Given the description of an element on the screen output the (x, y) to click on. 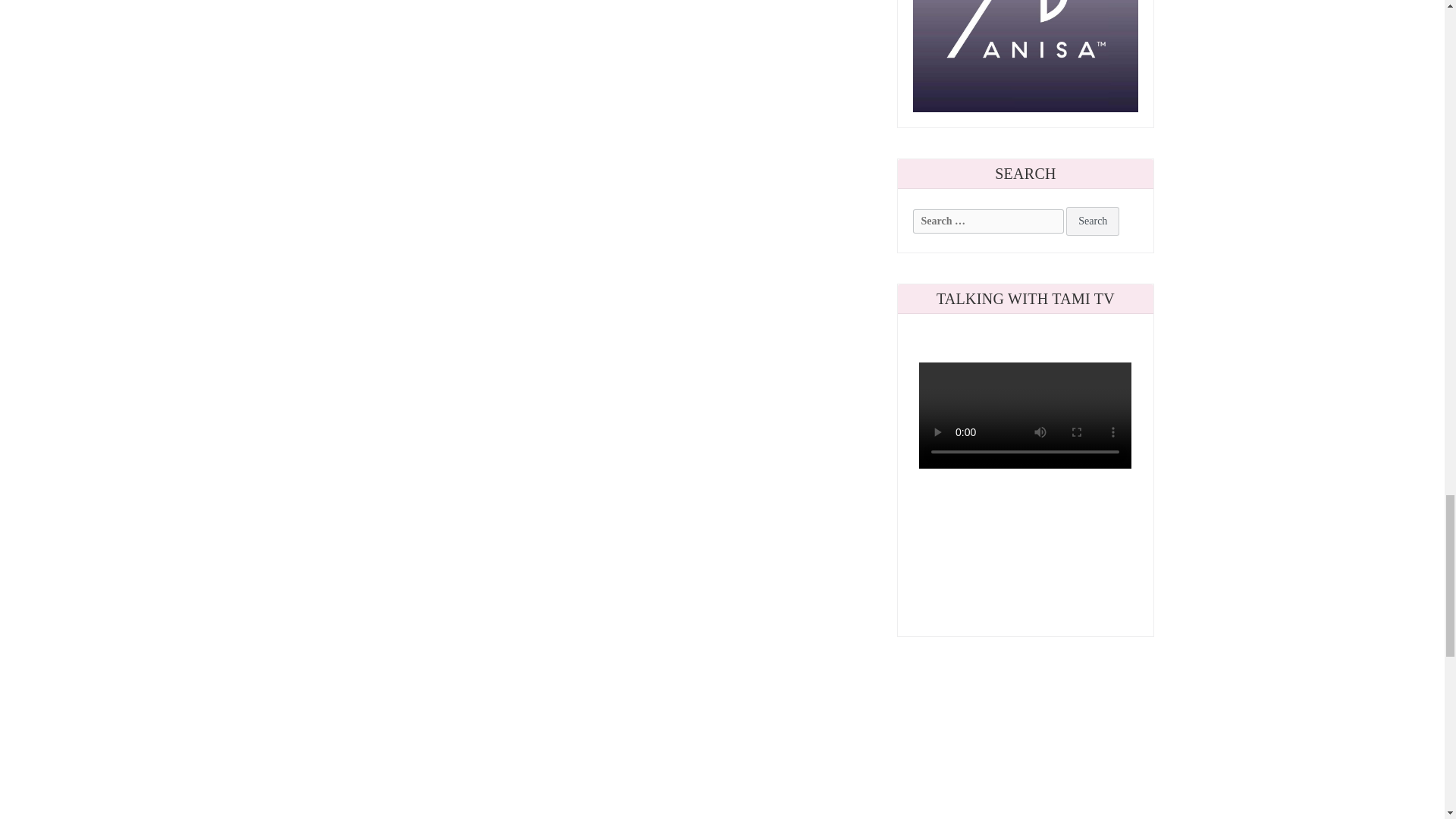
Search (1092, 221)
Search (1092, 221)
